Given the description of an element on the screen output the (x, y) to click on. 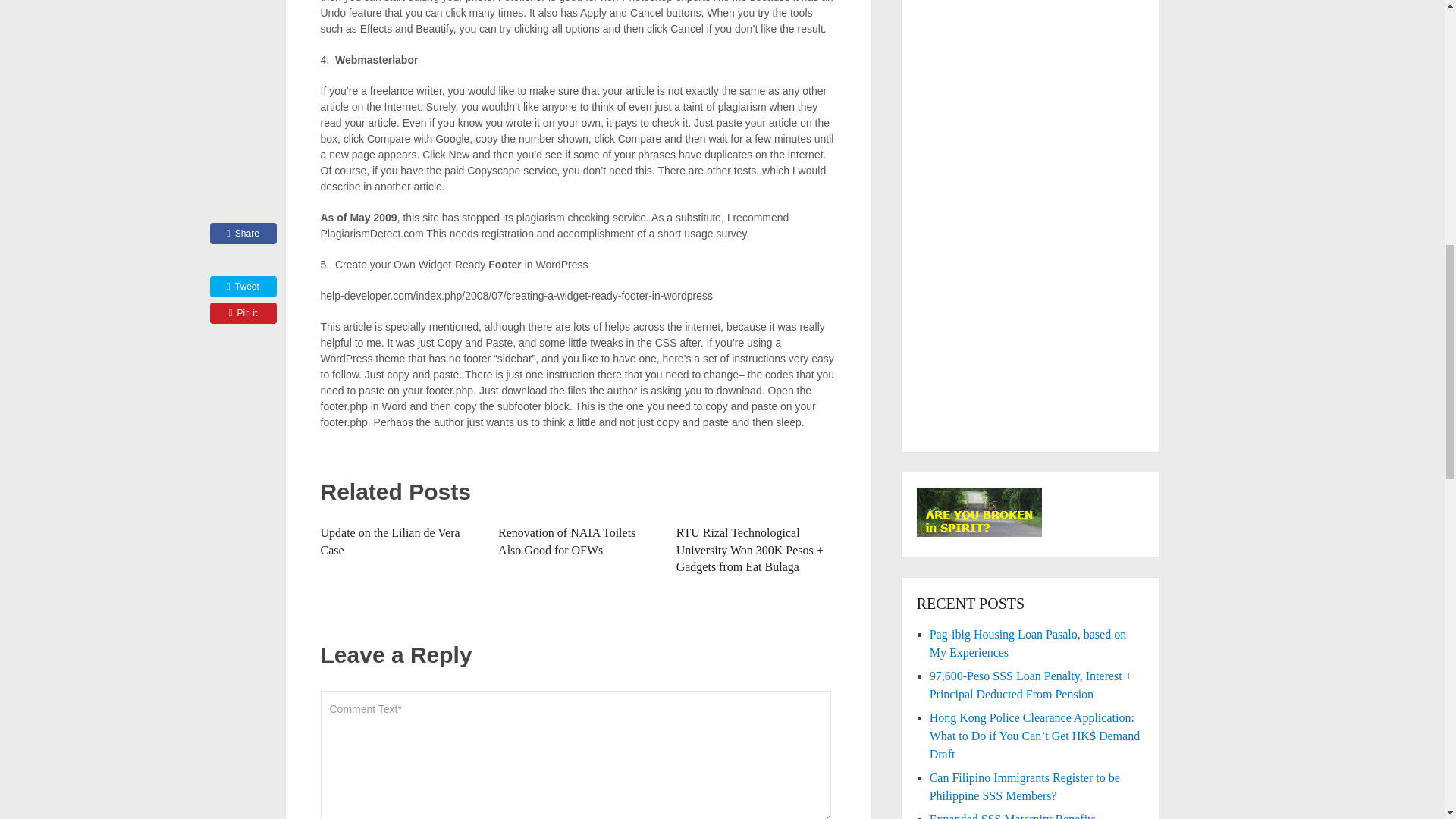
Pag-ibig Housing Loan Pasalo, based on My Experiences (1028, 643)
Update on the Lilian de Vera Case (390, 541)
Update on the Lilian de Vera Case (390, 541)
Expanded SSS Maternity Benefits (1013, 816)
Renovation of NAIA Toilets Also Good for OFWs (565, 541)
Renovation of NAIA Toilets Also Good for OFWs (565, 541)
